Given the description of an element on the screen output the (x, y) to click on. 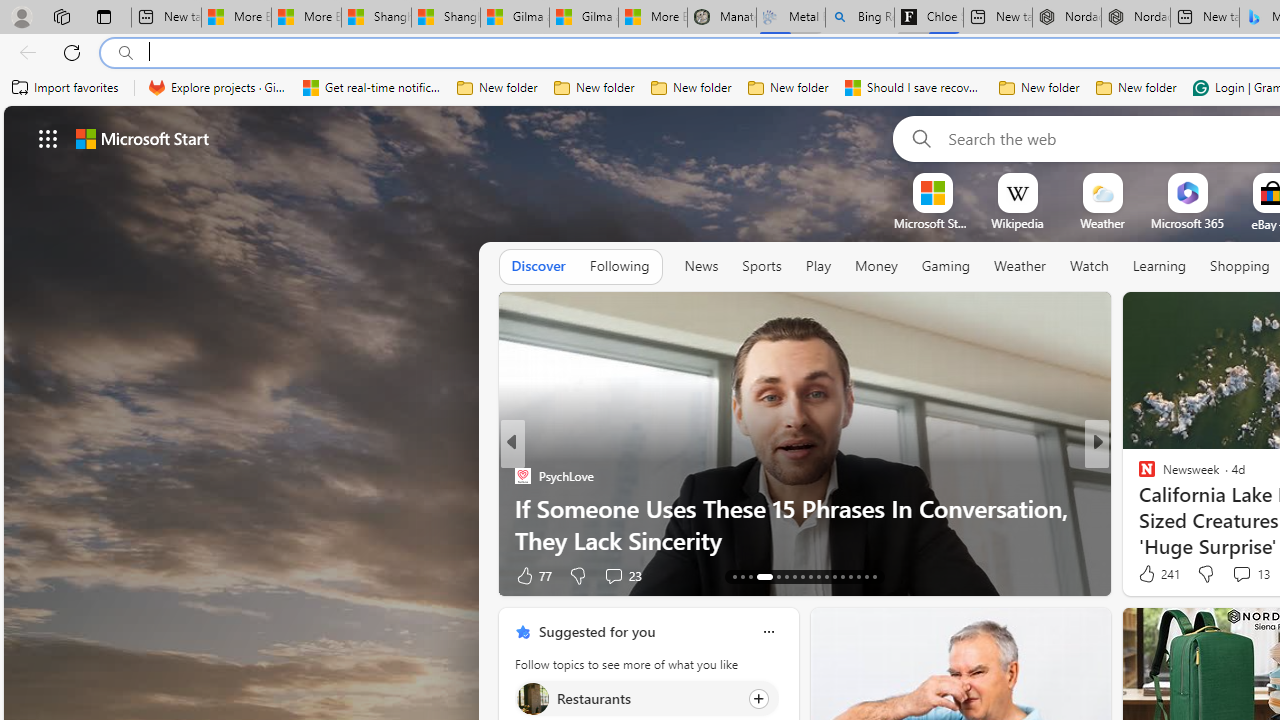
Kinda Frugal (522, 475)
Microsoft start (142, 138)
Earth (1138, 507)
View comments 49 Comment (1244, 574)
AutomationID: tab-16 (759, 576)
227 Like (1151, 574)
The Independent (1138, 475)
AutomationID: tab-26 (850, 576)
